Given the description of an element on the screen output the (x, y) to click on. 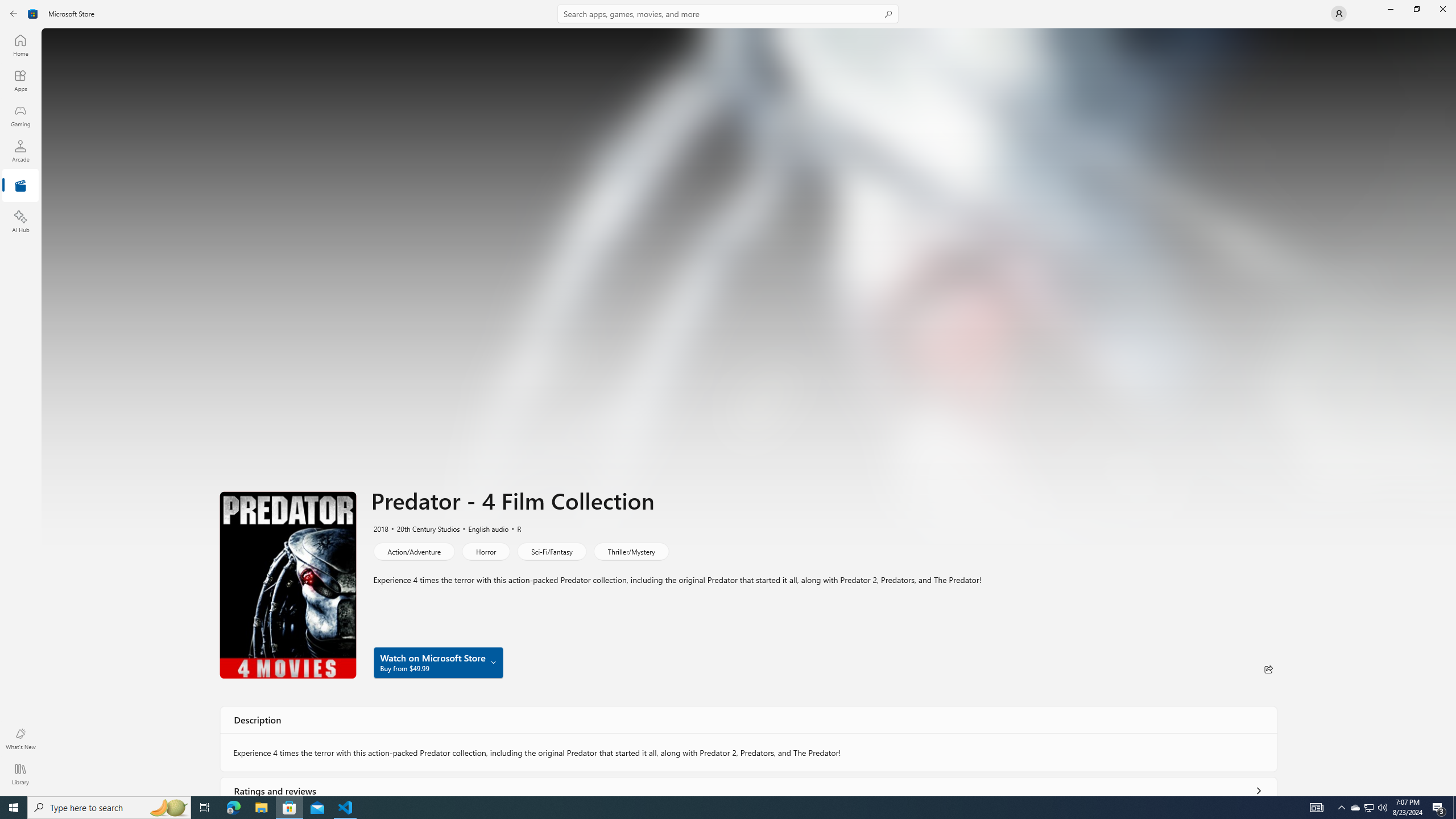
Share (1267, 669)
R (513, 528)
Thriller/Mystery (630, 551)
Restore Microsoft Store (1416, 9)
Library (20, 773)
Class: Image (32, 13)
English audio (484, 528)
20th Century Studios (422, 528)
Search (727, 13)
Minimize Microsoft Store (1390, 9)
Back (13, 13)
What's New (20, 738)
Sci-Fi/Fantasy (551, 551)
Action/Adventure (413, 551)
Show all ratings and reviews (1258, 788)
